Given the description of an element on the screen output the (x, y) to click on. 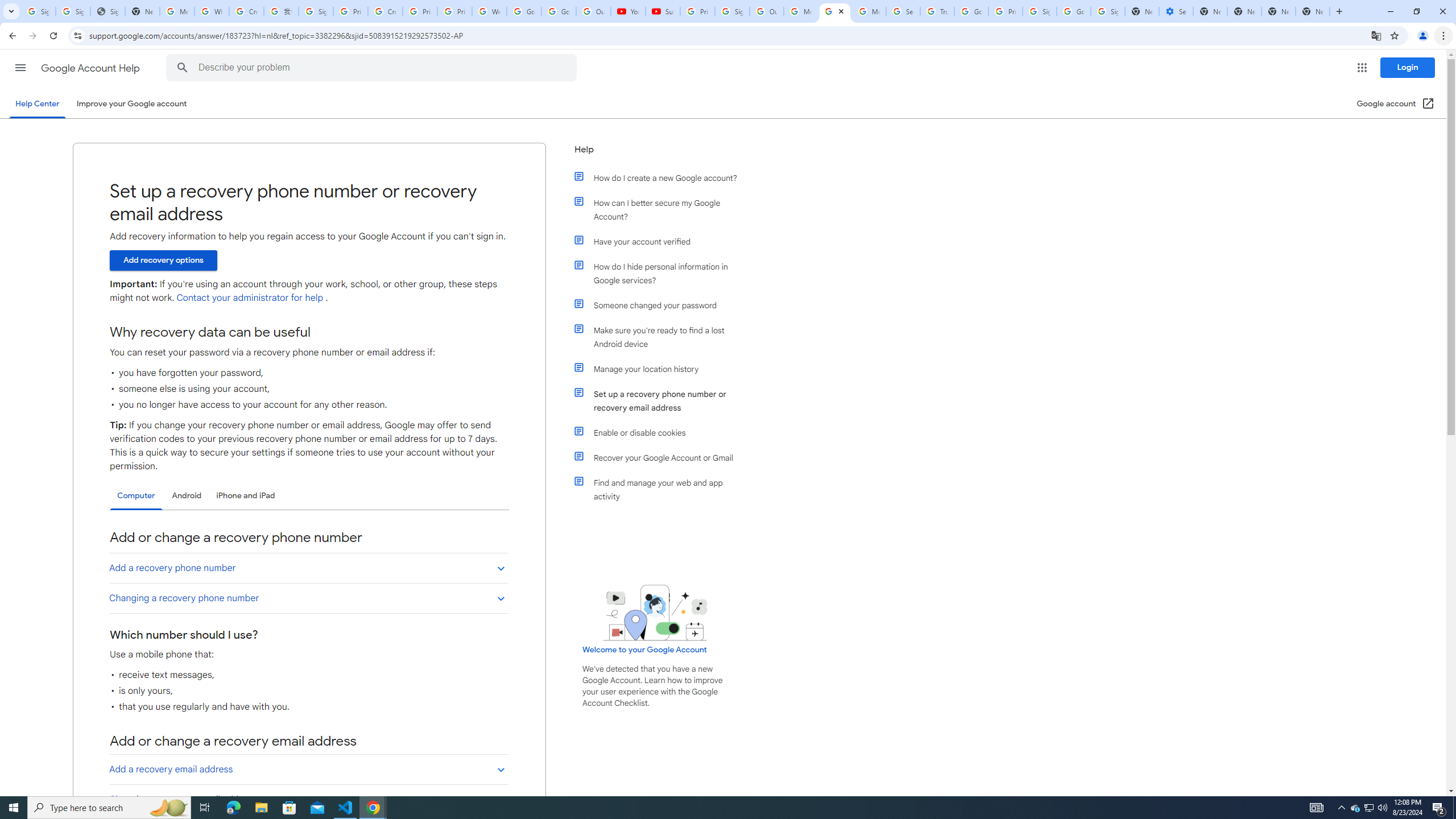
Settings - Performance (1176, 11)
Describe your problem (373, 67)
Help Center (36, 103)
Google Account Help (91, 68)
How do I create a new Google account? (661, 177)
New Tab (1312, 11)
Sign in - Google Accounts (1107, 11)
Someone changed your password (661, 305)
Welcome to your Google Account (644, 649)
Trusted Information and Content - Google Safety Center (937, 11)
